Given the description of an element on the screen output the (x, y) to click on. 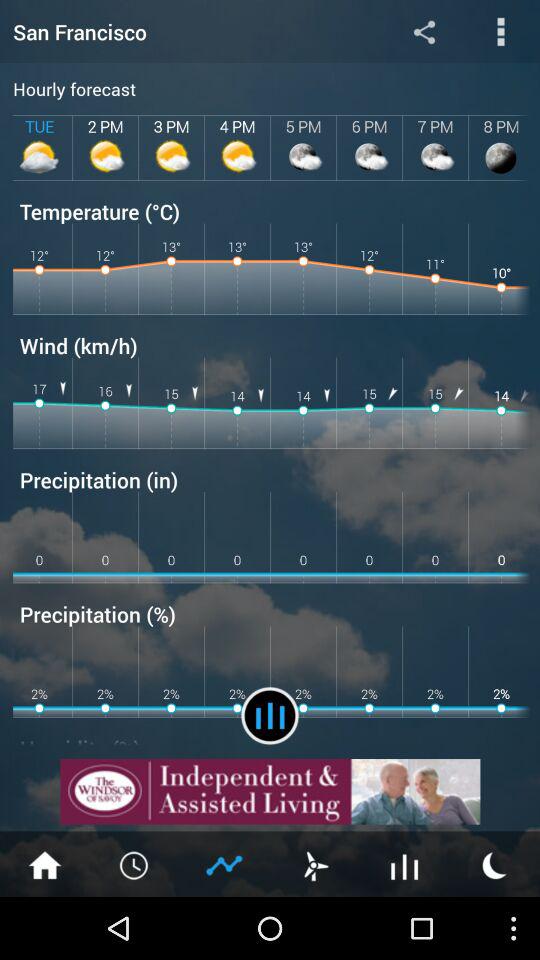
menu button (315, 864)
